Given the description of an element on the screen output the (x, y) to click on. 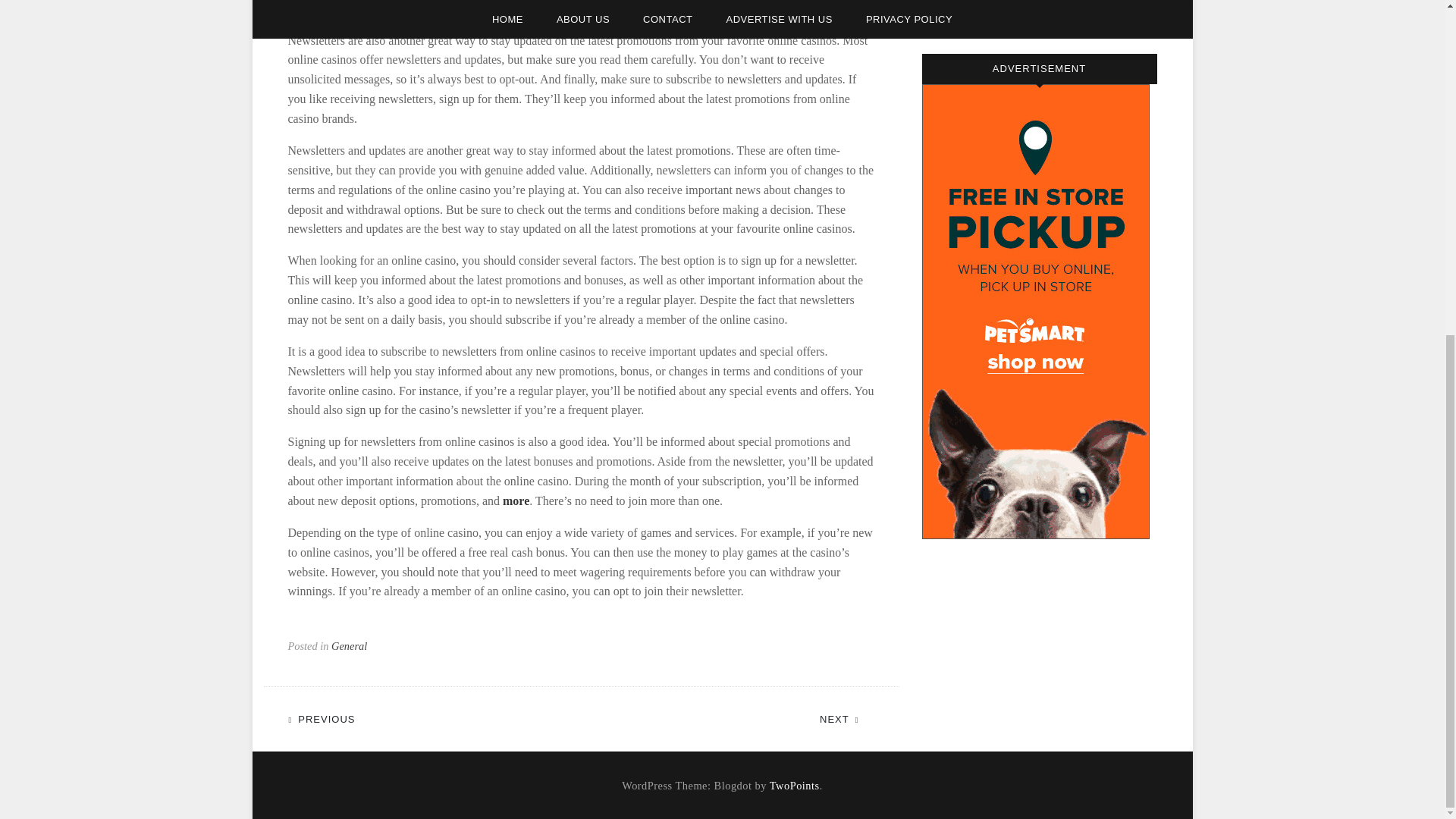
PREVIOUS (329, 717)
TwoPoints (794, 785)
more (515, 500)
Choosing a Garage Door Company (1002, 6)
NEXT (846, 717)
General (348, 645)
